Given the description of an element on the screen output the (x, y) to click on. 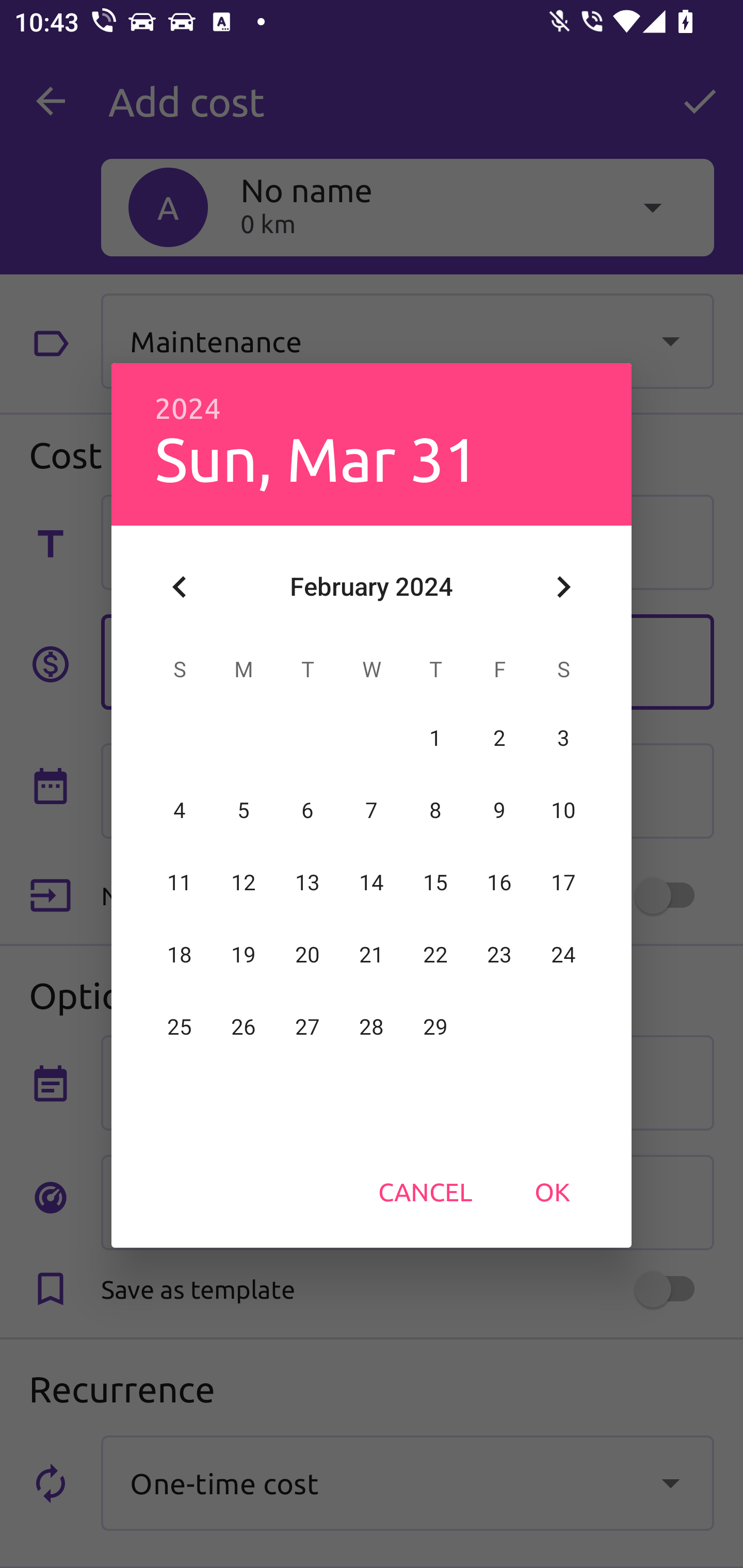
2024 (187, 408)
Sun, Mar 31 (316, 458)
Previous month (178, 587)
Next month (563, 587)
1 01 February 2024 (435, 738)
2 02 February 2024 (499, 738)
3 03 February 2024 (563, 738)
4 04 February 2024 (179, 810)
5 05 February 2024 (243, 810)
6 06 February 2024 (307, 810)
7 07 February 2024 (371, 810)
8 08 February 2024 (435, 810)
9 09 February 2024 (499, 810)
10 10 February 2024 (563, 810)
11 11 February 2024 (179, 882)
12 12 February 2024 (243, 882)
13 13 February 2024 (307, 882)
14 14 February 2024 (371, 882)
15 15 February 2024 (435, 882)
16 16 February 2024 (499, 882)
17 17 February 2024 (563, 882)
18 18 February 2024 (179, 954)
19 19 February 2024 (243, 954)
20 20 February 2024 (307, 954)
21 21 February 2024 (371, 954)
22 22 February 2024 (435, 954)
23 23 February 2024 (499, 954)
24 24 February 2024 (563, 954)
25 25 February 2024 (179, 1026)
26 26 February 2024 (243, 1026)
27 27 February 2024 (307, 1026)
28 28 February 2024 (371, 1026)
29 29 February 2024 (435, 1026)
CANCEL (425, 1191)
OK (552, 1191)
